Given the description of an element on the screen output the (x, y) to click on. 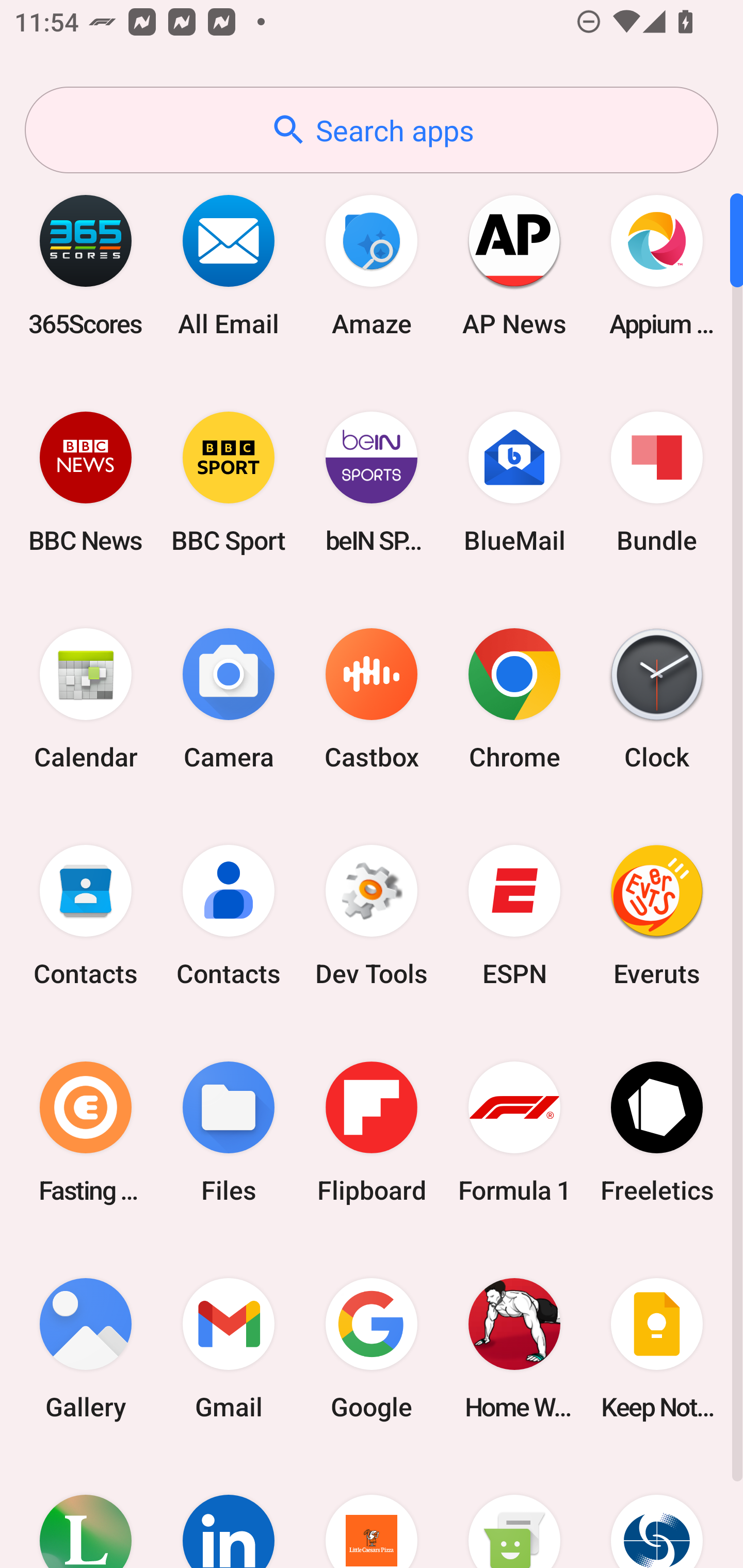
  Search apps (371, 130)
365Scores (85, 264)
All Email (228, 264)
Amaze (371, 264)
AP News (514, 264)
Appium Settings (656, 264)
BBC News (85, 482)
BBC Sport (228, 482)
beIN SPORTS (371, 482)
BlueMail (514, 482)
Bundle (656, 482)
Calendar (85, 699)
Camera (228, 699)
Castbox (371, 699)
Chrome (514, 699)
Clock (656, 699)
Contacts (85, 915)
Contacts (228, 915)
Dev Tools (371, 915)
ESPN (514, 915)
Everuts (656, 915)
Fasting Coach (85, 1131)
Files (228, 1131)
Flipboard (371, 1131)
Formula 1 (514, 1131)
Freeletics (656, 1131)
Gallery (85, 1348)
Gmail (228, 1348)
Google (371, 1348)
Home Workout (514, 1348)
Keep Notes (656, 1348)
